Given the description of an element on the screen output the (x, y) to click on. 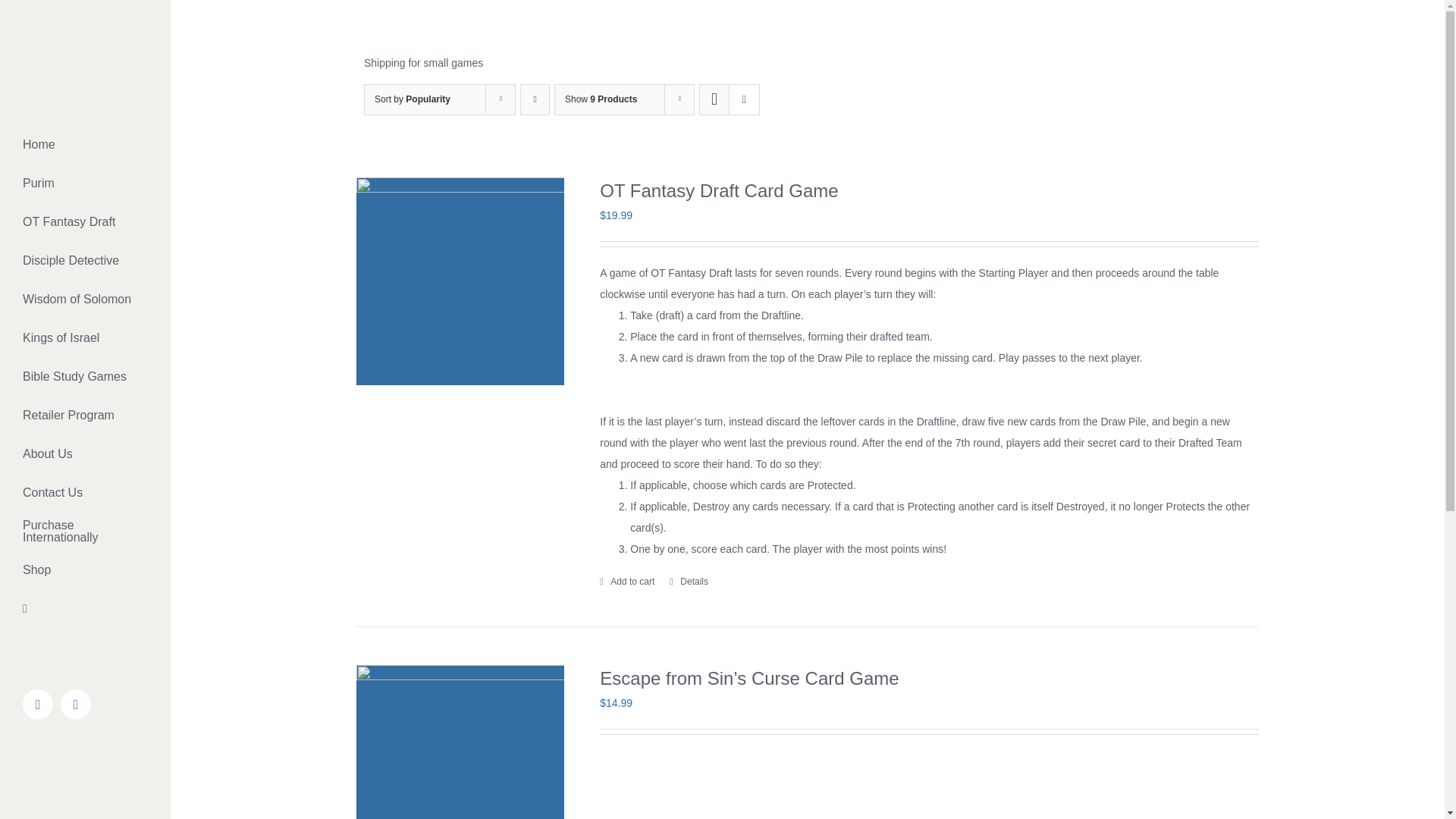
Shop (85, 570)
OT Fantasy Draft Card Game (718, 190)
Home (85, 144)
Disciple Detective (85, 260)
About Us (85, 454)
Details (688, 581)
Purchase Internationally (85, 531)
Purim (85, 183)
Facebook (37, 704)
Contact Us (85, 493)
